Given the description of an element on the screen output the (x, y) to click on. 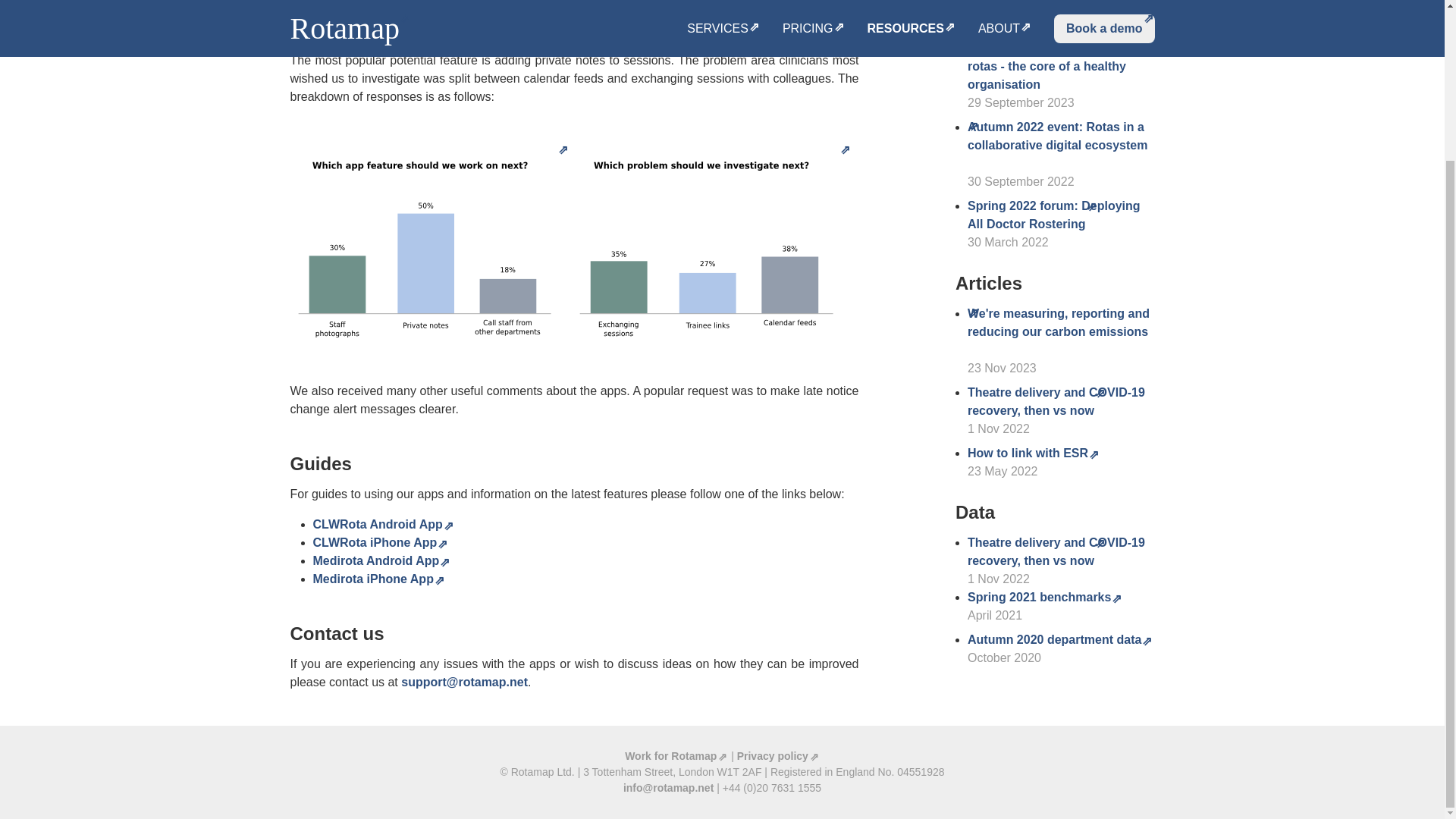
Spring 2021 benchmarks (1045, 596)
Medirota Android App (381, 560)
Work for Rotamap (676, 756)
CLWRota iPhone App (380, 542)
Theatre delivery and COVID-19 recovery, then vs now (1056, 551)
We're measuring, reporting and reducing our carbon emissions (1059, 331)
Medirota iPhone App (378, 578)
How to link with ESR (1033, 452)
Autumn 2020 department data (1060, 639)
CLWRota Android App (382, 523)
Theatre delivery and COVID-19 recovery, then vs now (1056, 400)
Spring 2022 forum: Deploying All Doctor Rostering (1054, 214)
